Given the description of an element on the screen output the (x, y) to click on. 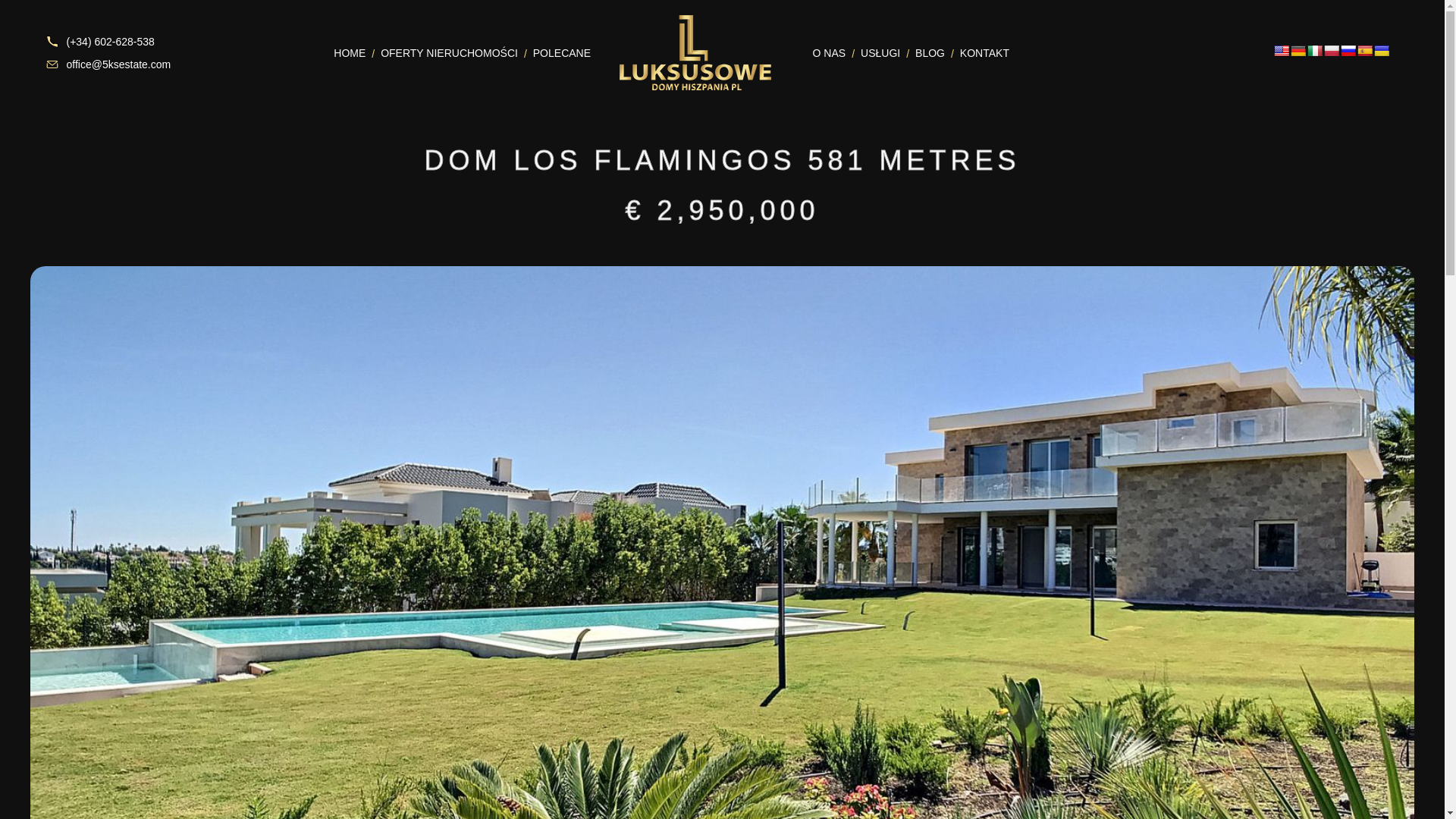
Polish (1331, 50)
English (1281, 50)
BLOG (921, 52)
POLECANE (554, 52)
Russian (1347, 50)
German (1298, 50)
Spanish (1364, 50)
HOME (343, 52)
O NAS (822, 52)
KONTAKT (976, 52)
